Given the description of an element on the screen output the (x, y) to click on. 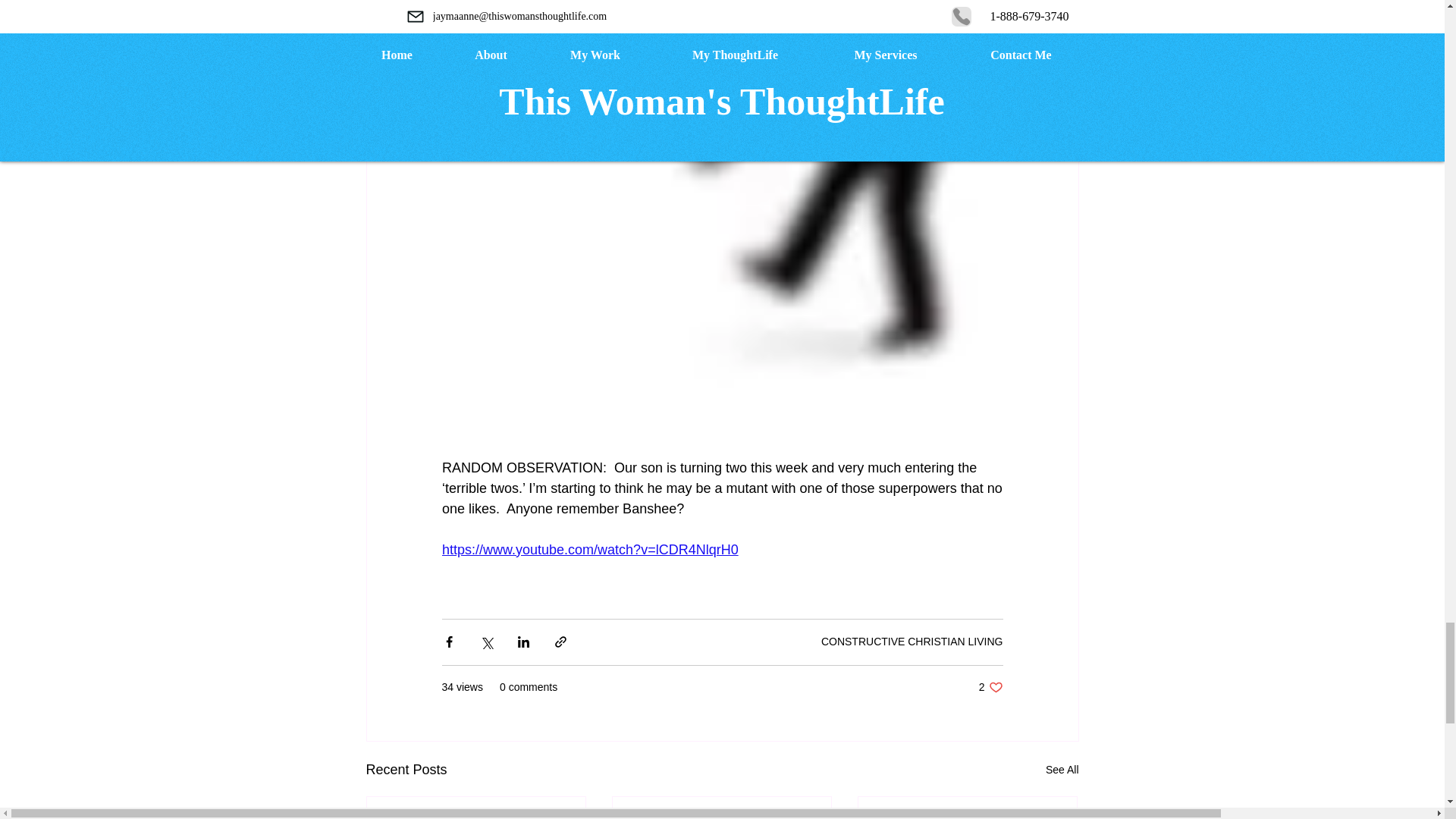
CONSTRUCTIVE CHRISTIAN LIVING (990, 687)
See All (912, 641)
